Given the description of an element on the screen output the (x, y) to click on. 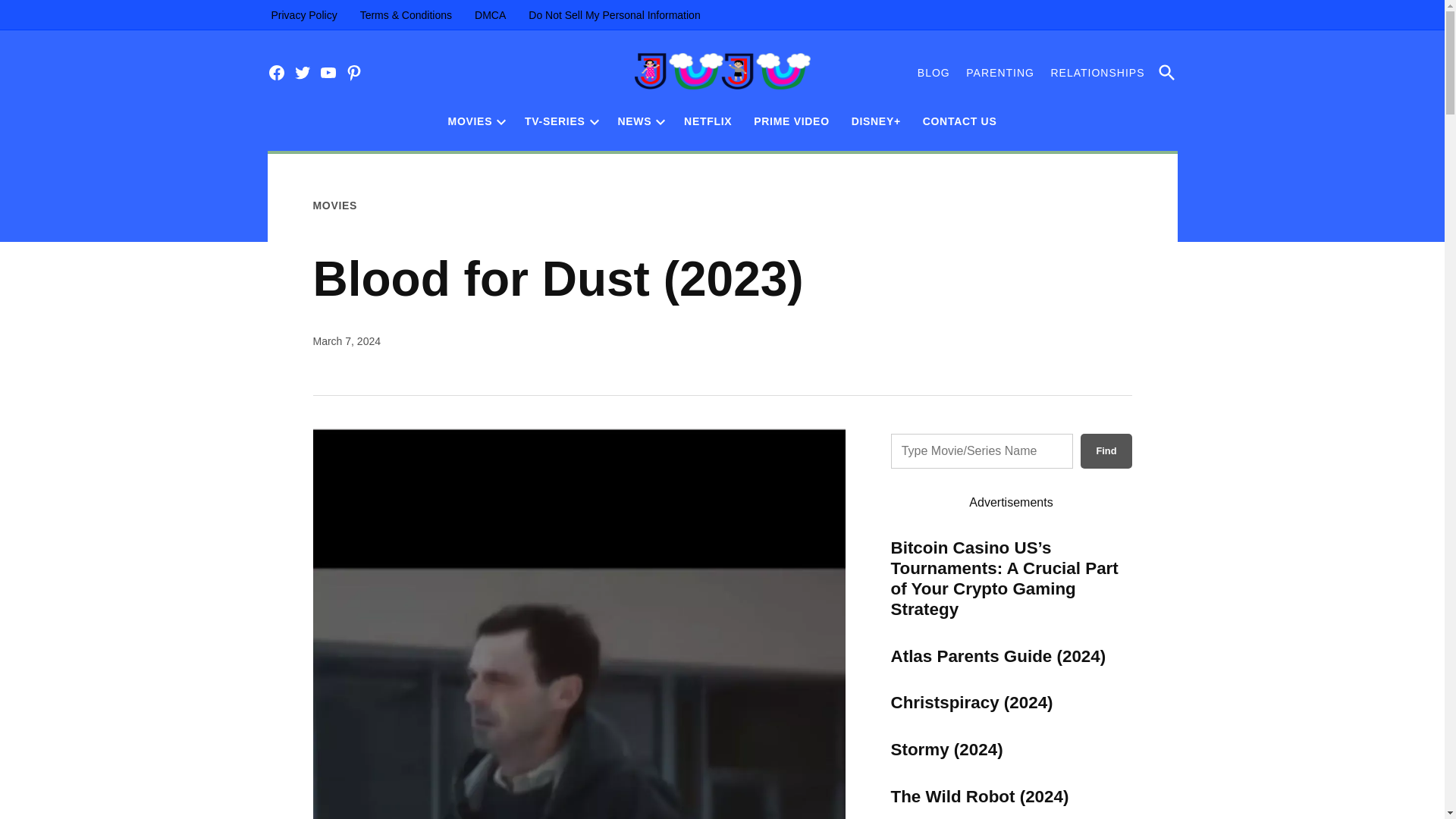
YouTube (327, 72)
DMCA (489, 14)
Twitter (301, 72)
Privacy Policy (303, 14)
Do Not Sell My Personal Information (613, 14)
Facebook (275, 72)
